Given the description of an element on the screen output the (x, y) to click on. 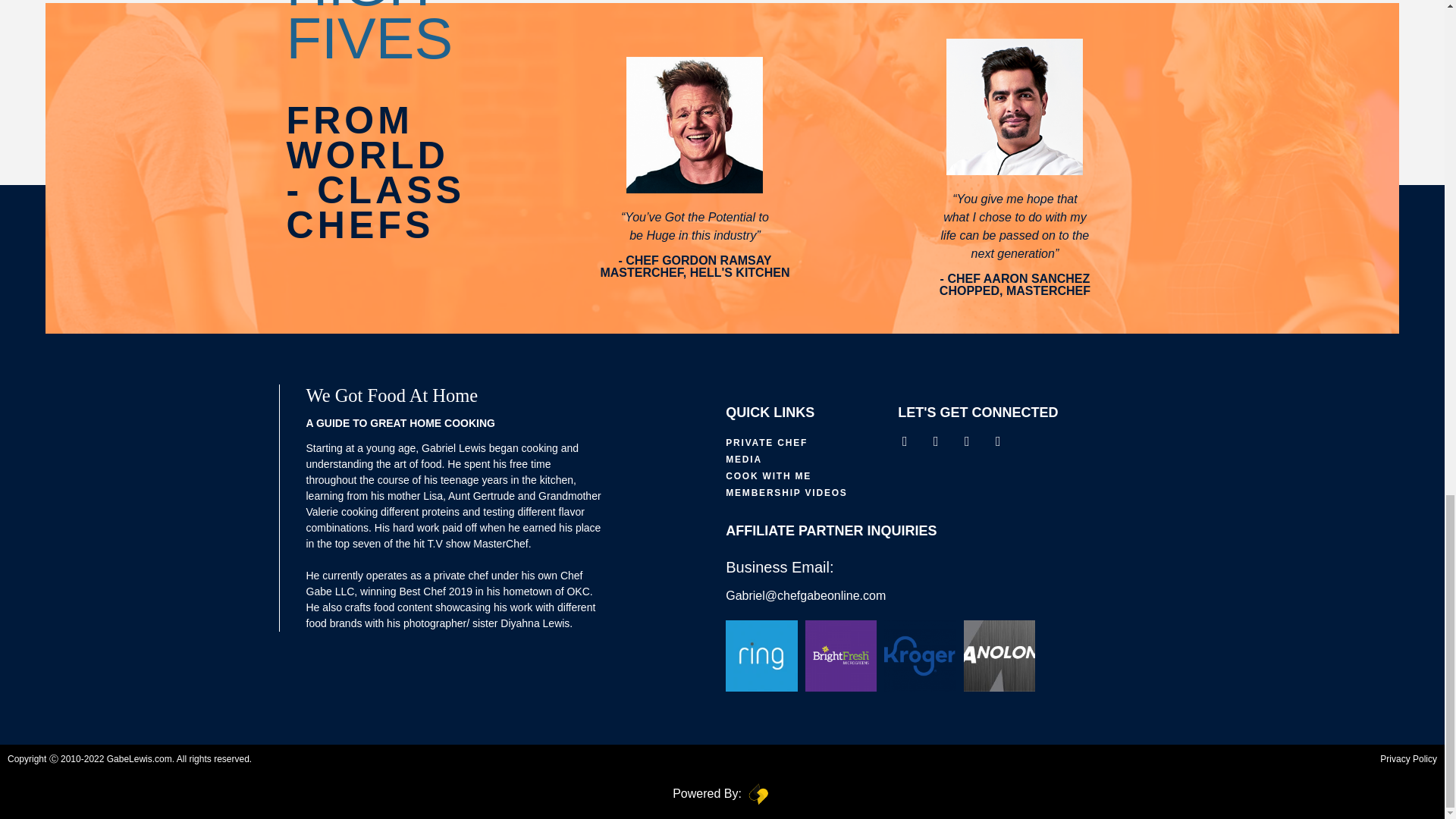
MEDIA (811, 459)
PRIVATE CHEF (811, 442)
MEMBERSHIP VIDEOS (811, 492)
Privacy Policy (1083, 758)
COOK WITH ME (811, 475)
Powered By: (706, 793)
